Given the description of an element on the screen output the (x, y) to click on. 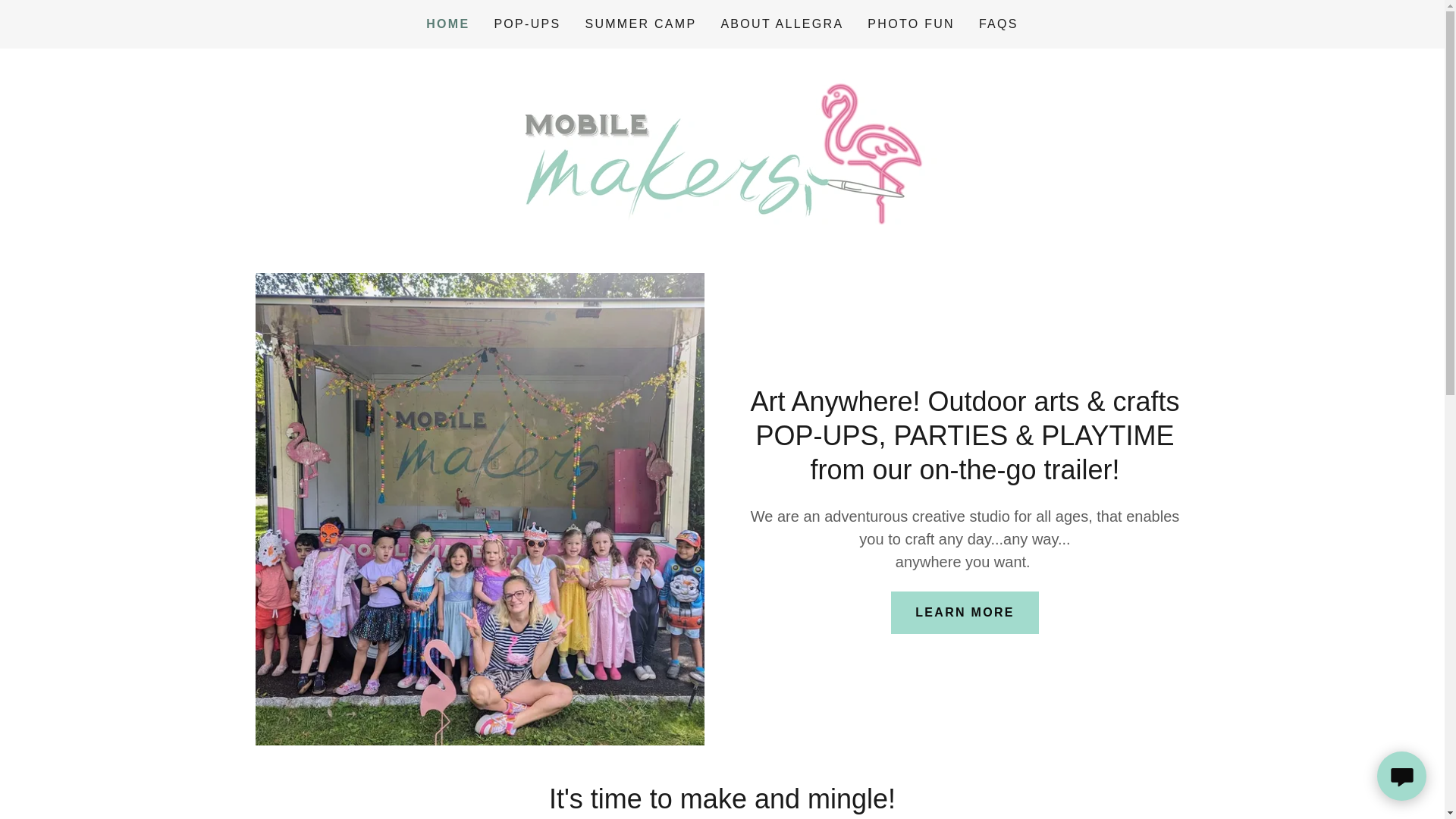
ABOUT ALLEGRA (781, 23)
Mobile Makers (721, 144)
PHOTO FUN (911, 23)
POP-UPS (526, 23)
HOME (447, 24)
FAQS (998, 23)
SUMMER CAMP (639, 23)
LEARN MORE (964, 612)
